Given the description of an element on the screen output the (x, y) to click on. 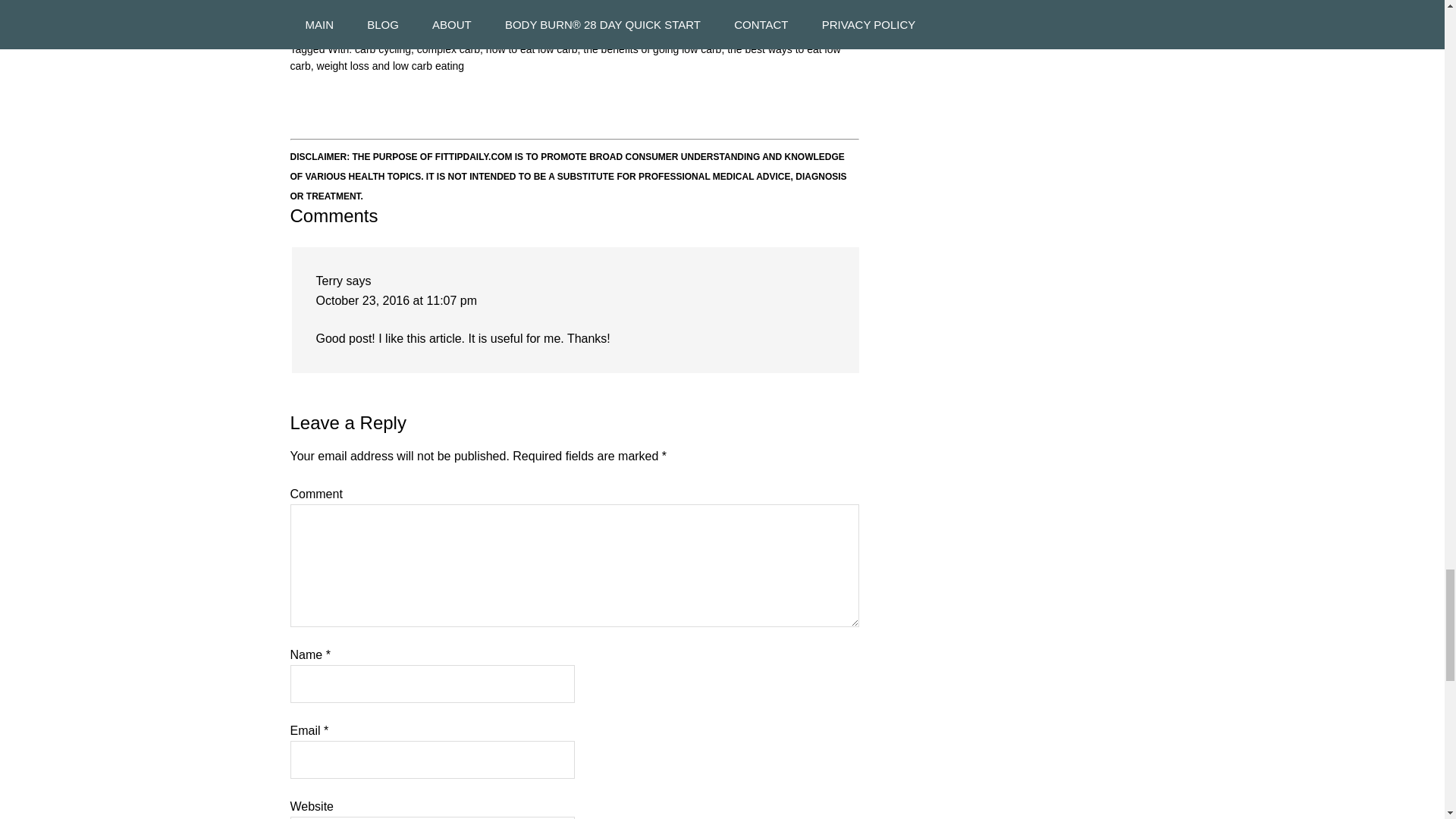
Email (635, 3)
Tumblr (446, 3)
Pinterest (508, 3)
Click to share on Facebook (322, 3)
Facebook (322, 3)
Click to share on Twitter (387, 3)
Click to share on Tumblr (446, 3)
Click to share on LinkedIn (575, 3)
Print (686, 3)
Click to email this to a friend (635, 3)
